Given the description of an element on the screen output the (x, y) to click on. 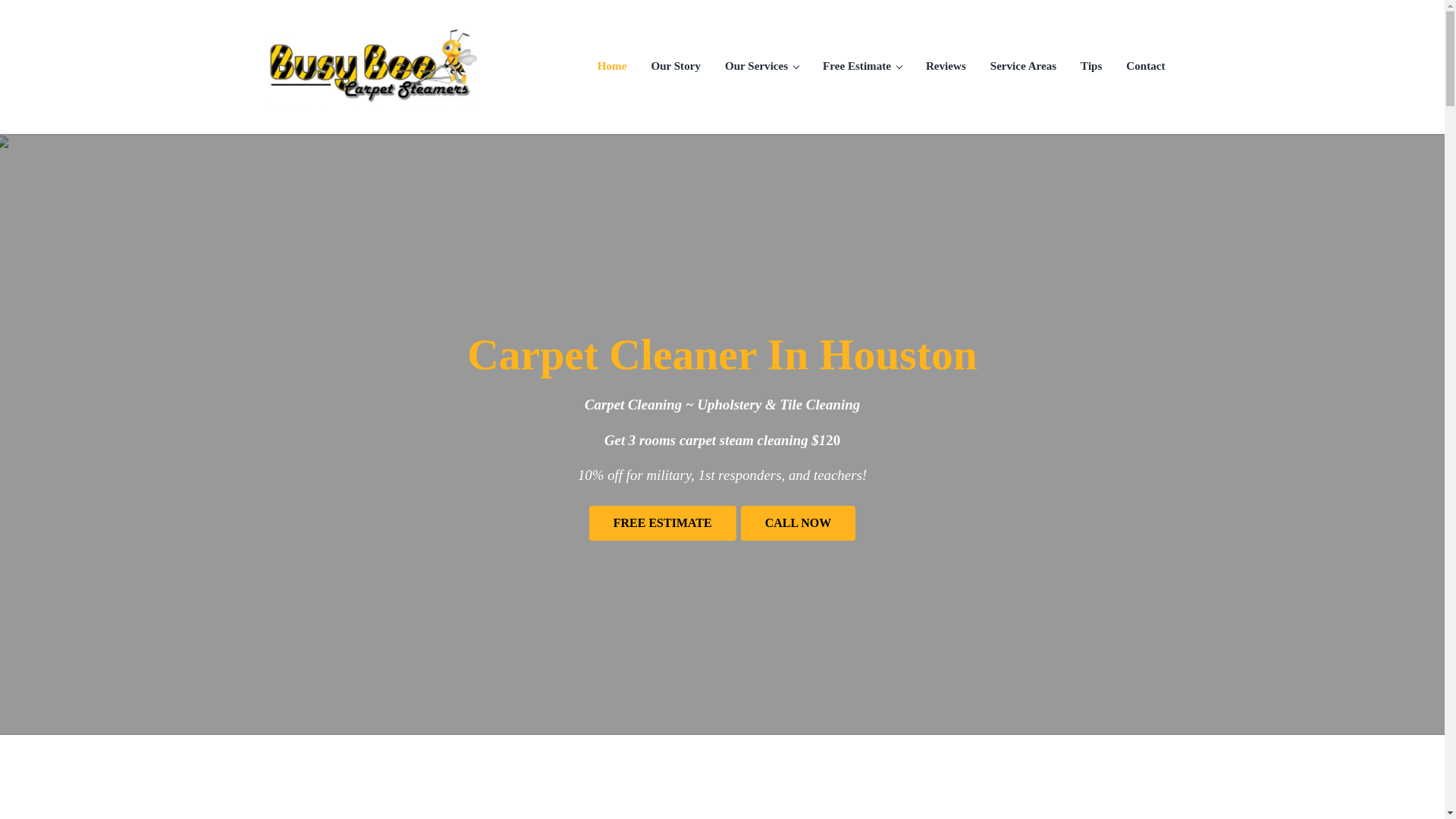
Our Services (761, 65)
Reviews (946, 65)
Home (612, 65)
FREE ESTIMATE (662, 523)
Service Areas (1023, 65)
Contact (1144, 65)
CALL NOW (798, 523)
Our Story (676, 65)
Tips (1090, 65)
Free Estimate (862, 65)
